Given the description of an element on the screen output the (x, y) to click on. 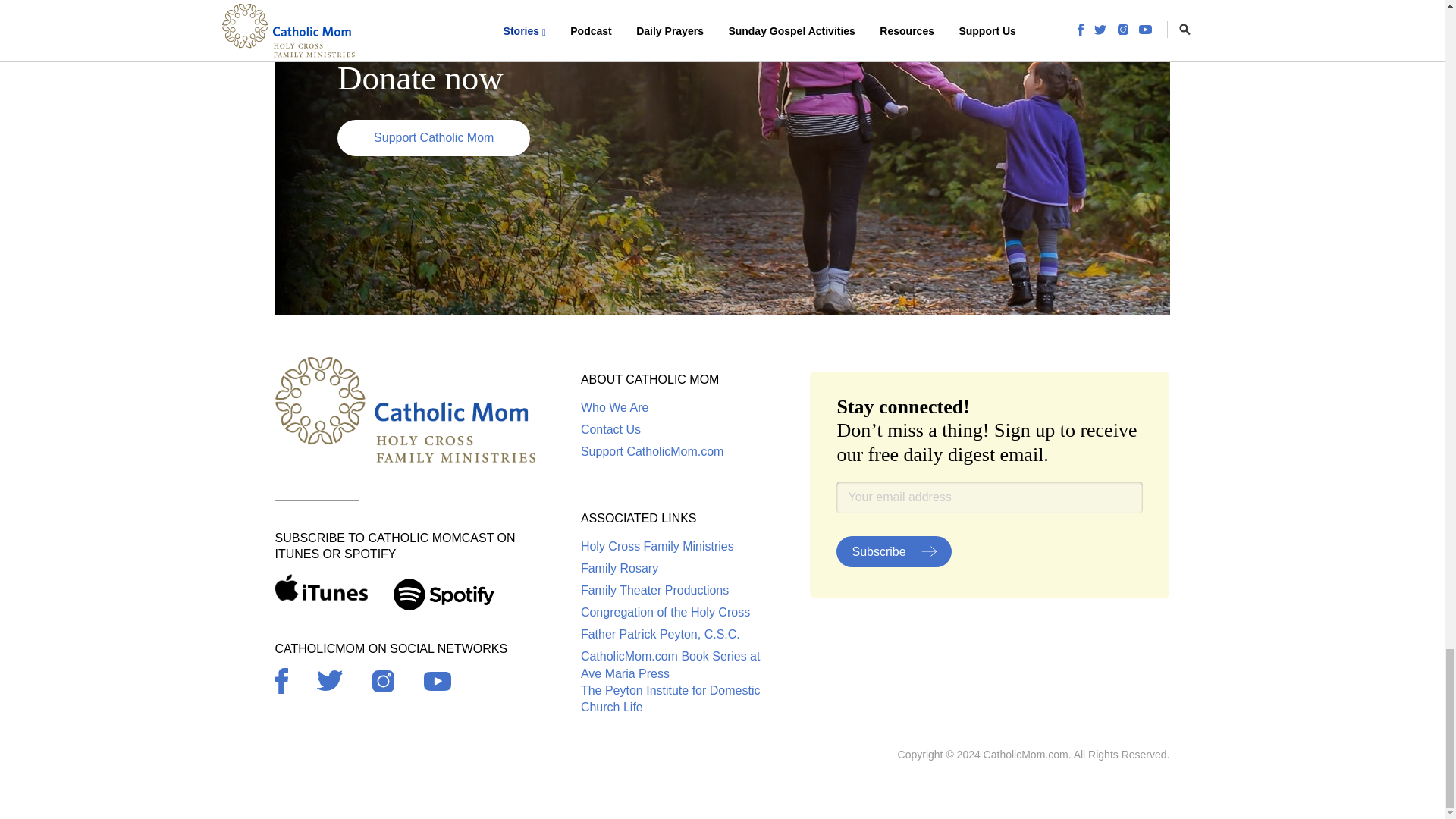
Subscribe (892, 551)
Support Catholic Mom (433, 137)
